Given the description of an element on the screen output the (x, y) to click on. 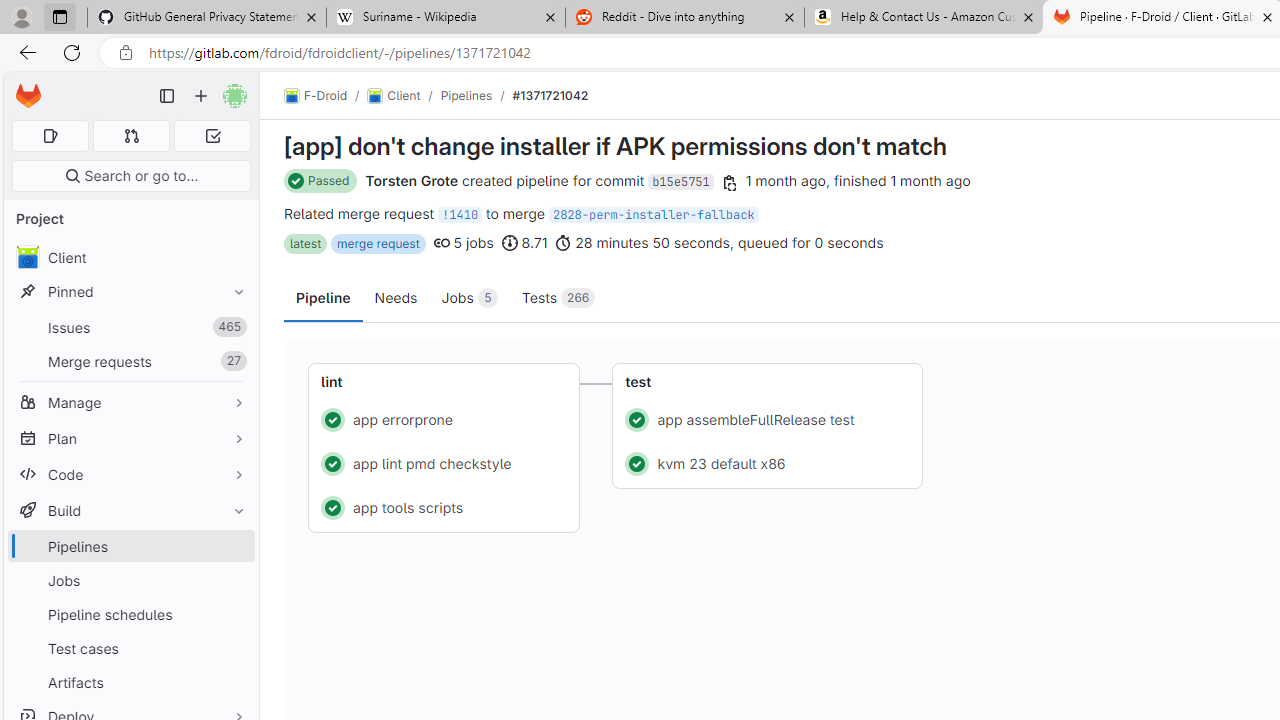
Help & Contact Us - Amazon Customer Service (924, 17)
Artifacts (130, 682)
F-Droid/ (326, 96)
Torsten Grote (411, 180)
Tests 266 (558, 296)
Pin Jobs (234, 580)
!1410 (459, 214)
Manage (130, 402)
Unpin Merge requests (234, 361)
Needs (396, 296)
Client/ (404, 96)
Status: Passed kvm 23 default x86 (767, 462)
Pipelines/ (476, 95)
BuildPipelinesJobsPipeline schedulesTest casesArtifacts (130, 596)
